Given the description of an element on the screen output the (x, y) to click on. 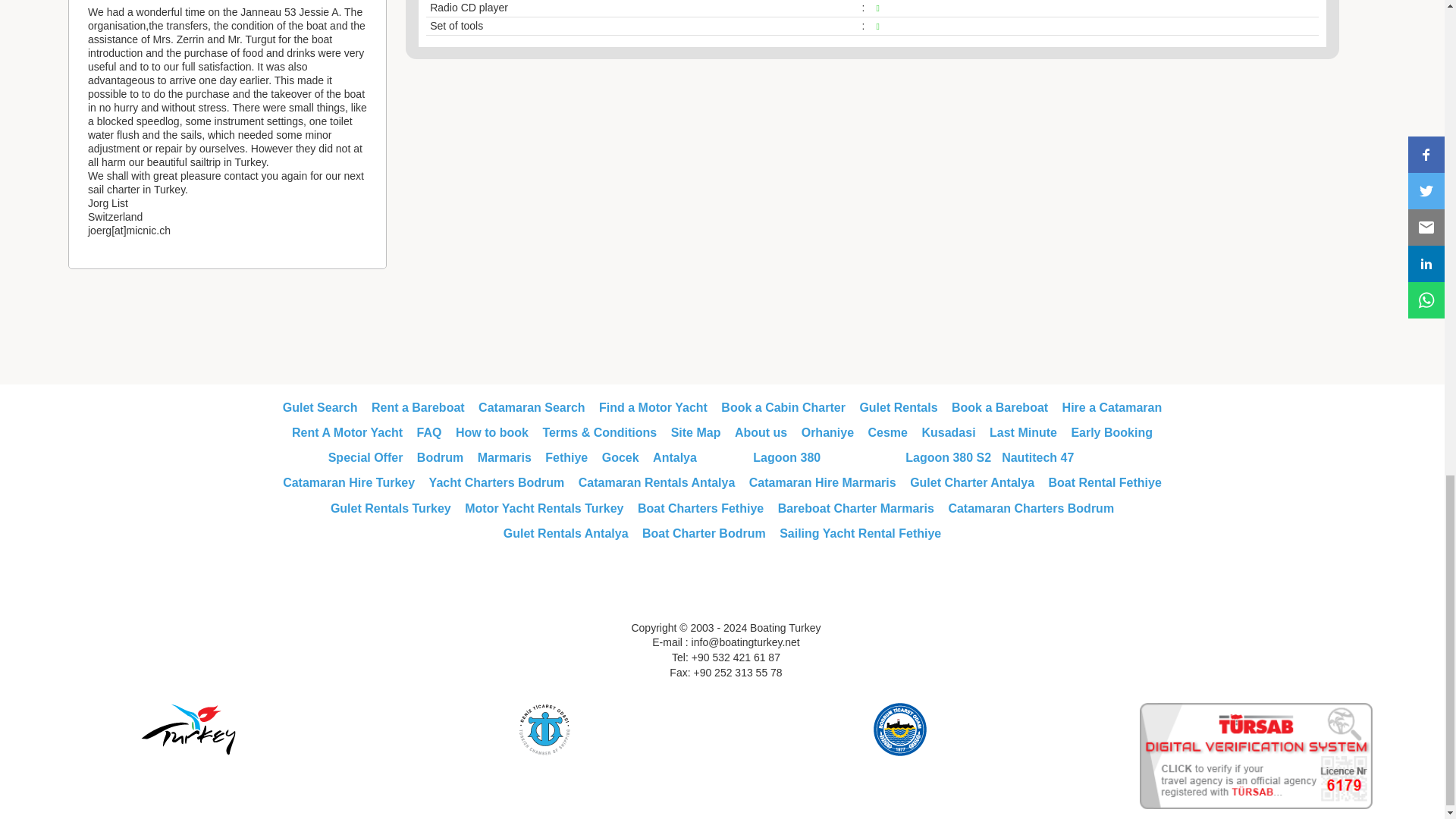
Find a Motor Yacht (652, 407)
How to book (491, 431)
Orhaniye (827, 431)
Book a Bareboat (1000, 407)
Kusadasi (948, 431)
Special Offer (366, 457)
Book a Cabin Charter (782, 407)
Hire a Catamaran (1111, 407)
Rent A Motor Yacht (347, 431)
FAQ (429, 431)
Cesme (887, 431)
Last Minute (1023, 431)
Rent a Bareboat (417, 407)
Bodrum (439, 457)
About us (761, 431)
